Given the description of an element on the screen output the (x, y) to click on. 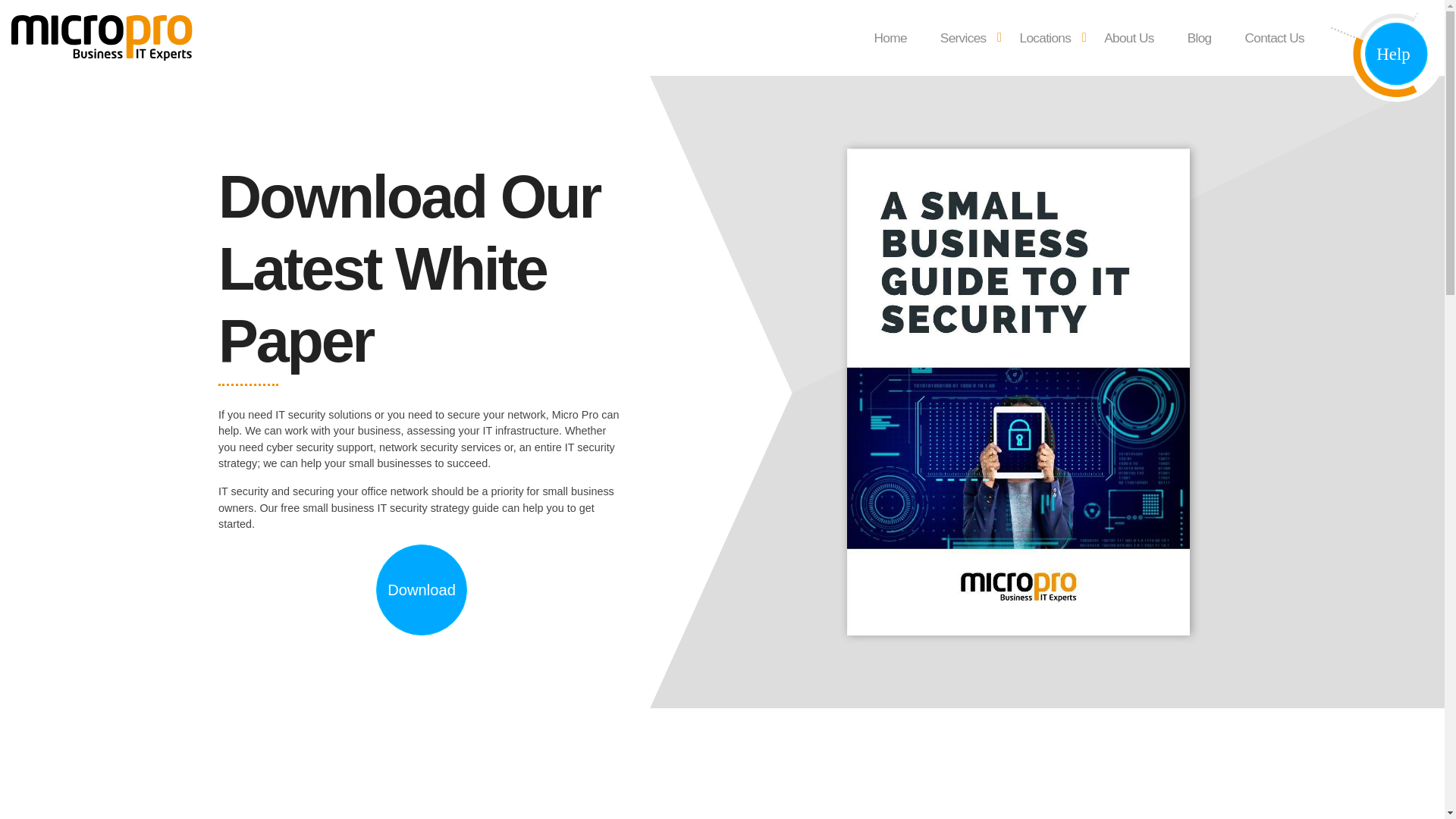
Help (1387, 55)
Services (962, 38)
Download Now (421, 589)
Micro Pro IT Support (50, 99)
Locations (1045, 38)
